Given the description of an element on the screen output the (x, y) to click on. 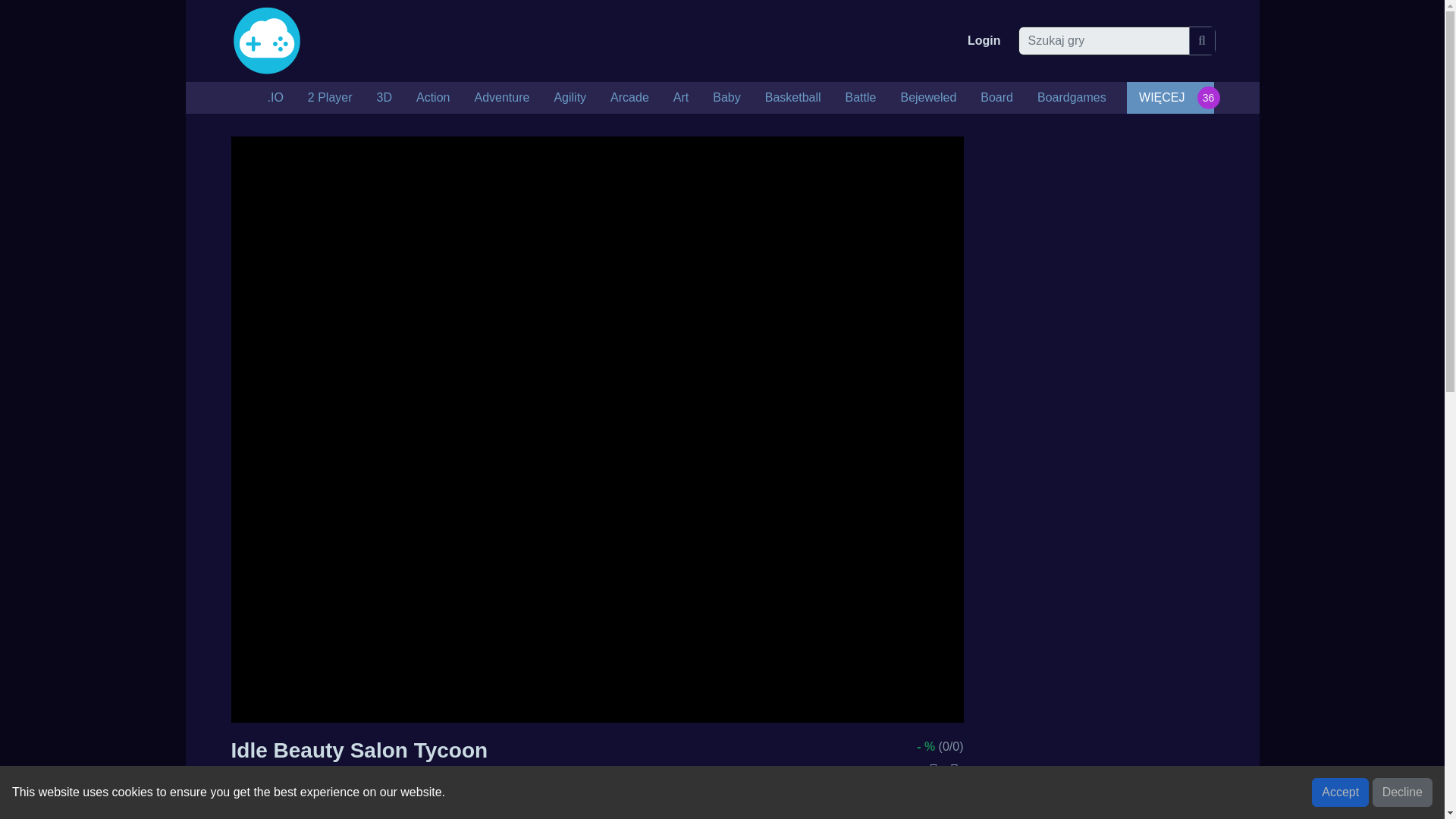
Baby (726, 97)
Bejeweled (928, 97)
Agility (569, 97)
Action (432, 97)
Art (680, 97)
Battle (860, 97)
Boardgames (1071, 97)
Board (996, 97)
Login (983, 40)
2 Player (330, 97)
